Given the description of an element on the screen output the (x, y) to click on. 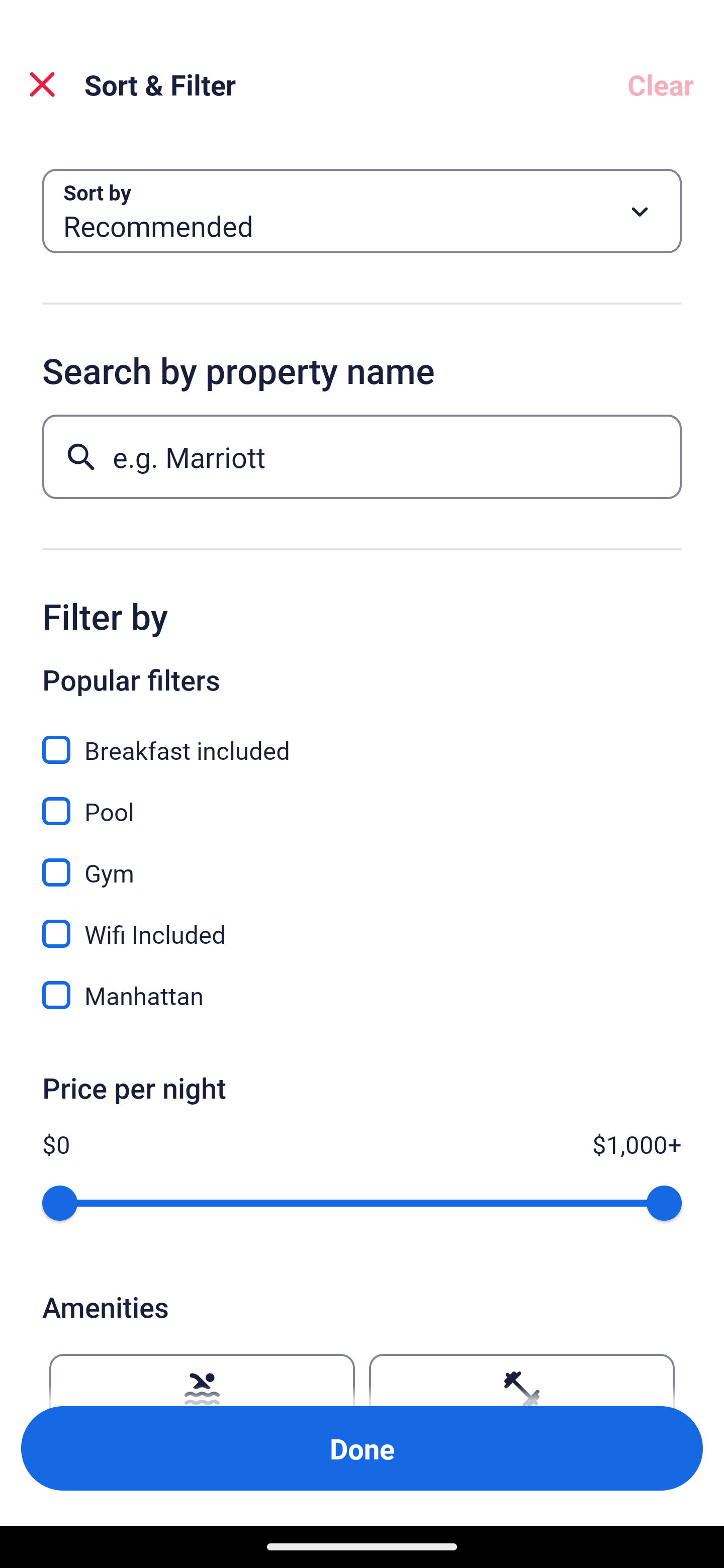
Close Sort and Filter (42, 84)
Clear (660, 84)
Sort by Button Recommended (361, 211)
e.g. Marriott Button (361, 455)
Breakfast included, Breakfast included (361, 738)
Pool, Pool (361, 800)
Gym, Gym (361, 861)
Wifi Included, Wifi Included (361, 922)
Manhattan, Manhattan (361, 995)
Apply and close Sort and Filter Done (361, 1448)
